Given the description of an element on the screen output the (x, y) to click on. 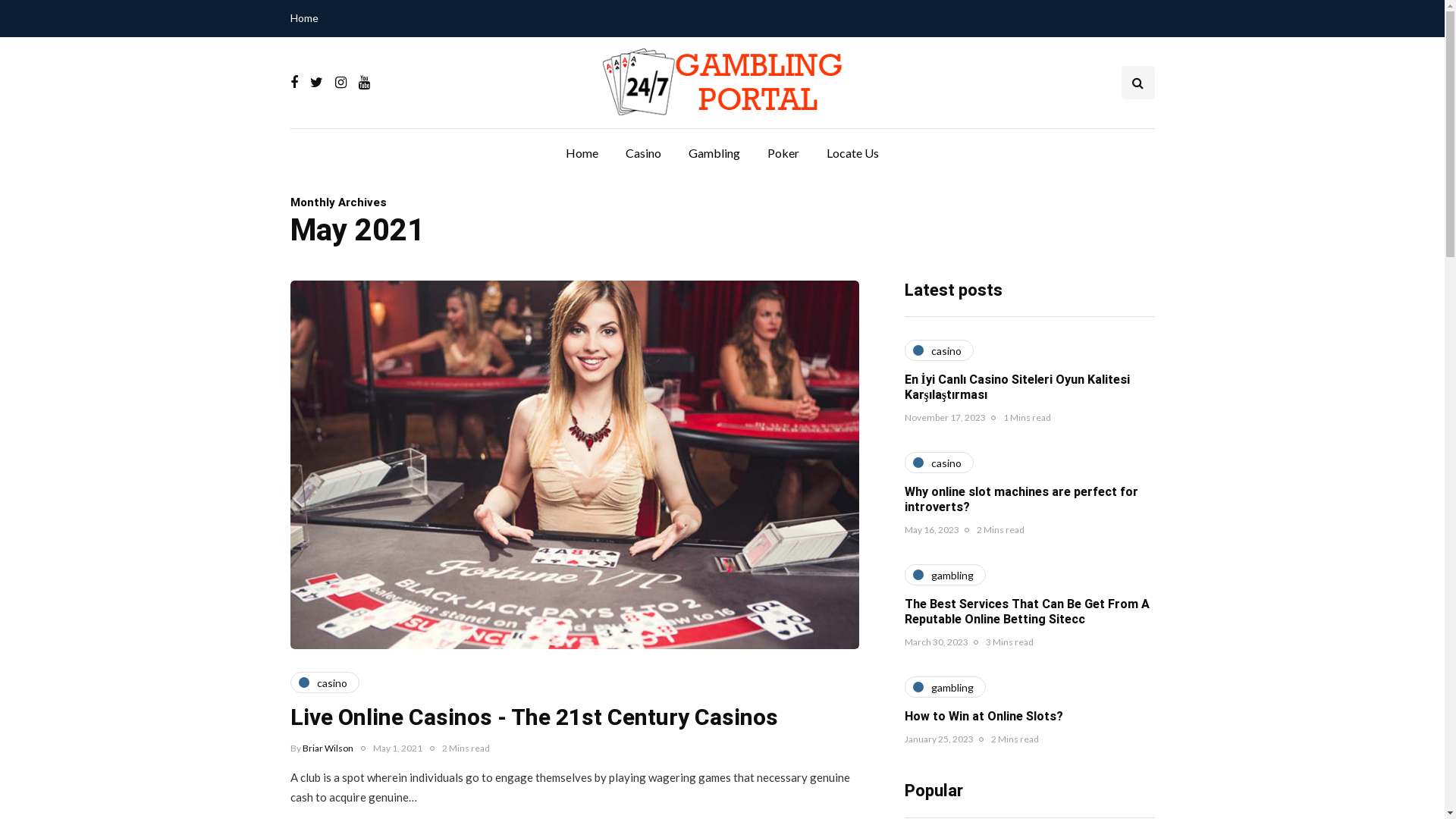
gambling Element type: text (944, 686)
Gambling Element type: text (713, 152)
Live Online Casinos - The 21st Century Casinos Element type: text (533, 717)
Briar Wilson Element type: text (326, 747)
casino Element type: text (937, 349)
casino Element type: text (323, 682)
Home Element type: text (307, 18)
casino Element type: text (937, 462)
How to Win at Online Slots? Element type: text (982, 716)
Locate Us Element type: text (852, 152)
Why online slot machines are perfect for introverts? Element type: text (1020, 499)
Poker Element type: text (782, 152)
Home Element type: text (581, 152)
gambling Element type: text (944, 574)
Casino Element type: text (642, 152)
